Given the description of an element on the screen output the (x, y) to click on. 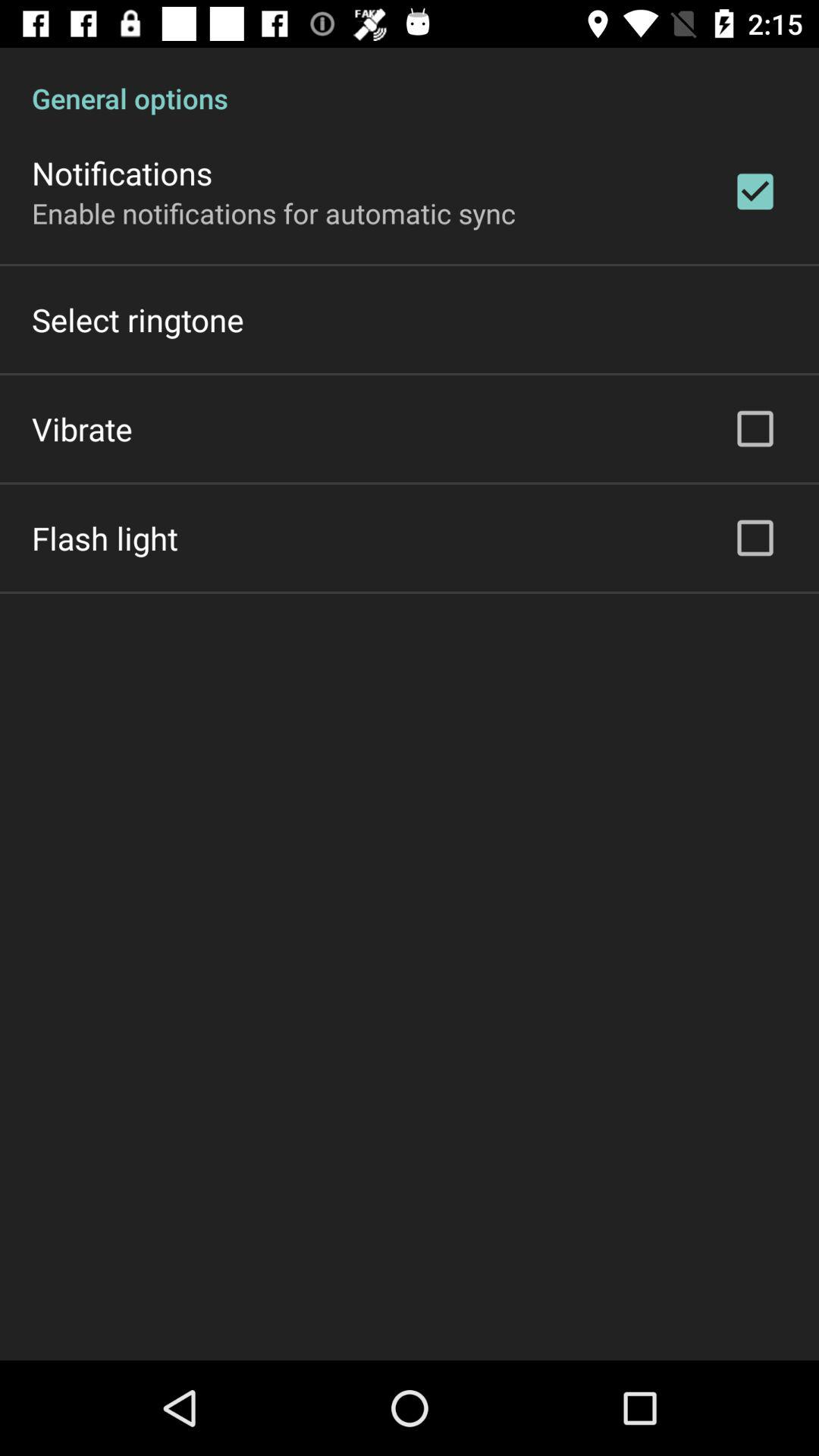
press the item on the left (104, 537)
